Given the description of an element on the screen output the (x, y) to click on. 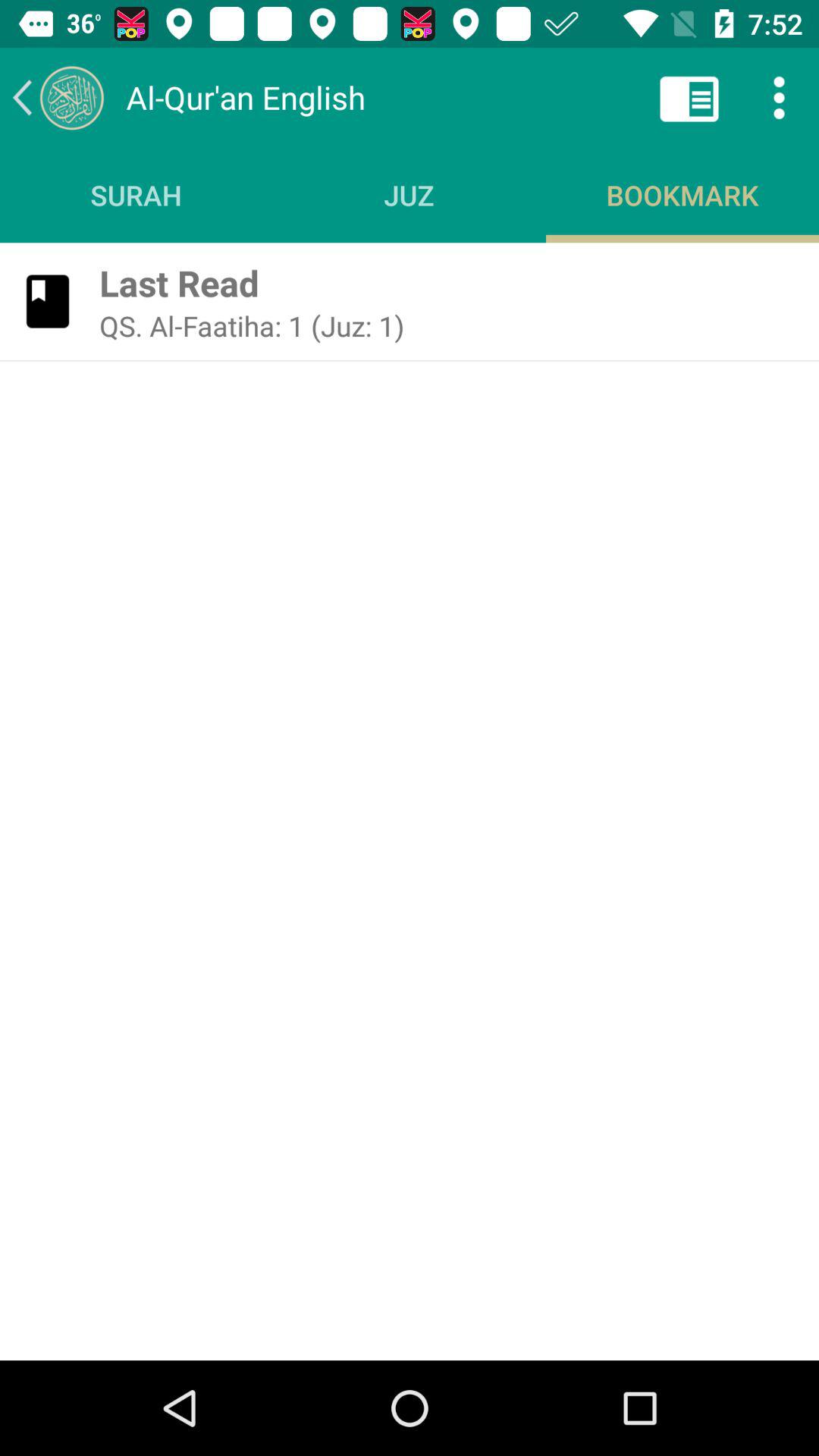
go to previous (58, 97)
